Given the description of an element on the screen output the (x, y) to click on. 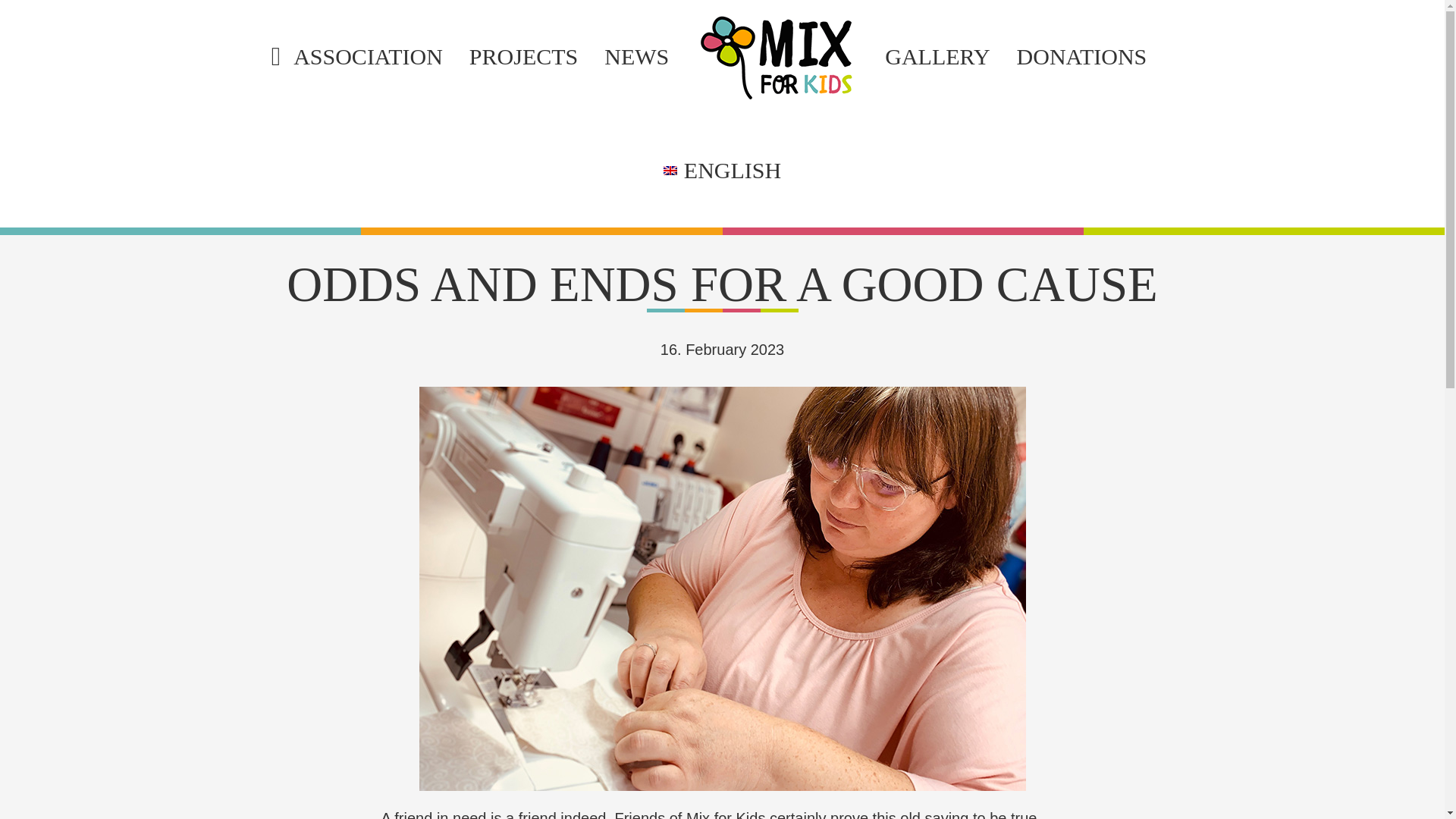
English (721, 170)
ASSOCIATION (356, 56)
ENGLISH (721, 170)
GALLERY (937, 56)
DONATIONS (1081, 56)
PROJECTS (523, 56)
